Given the description of an element on the screen output the (x, y) to click on. 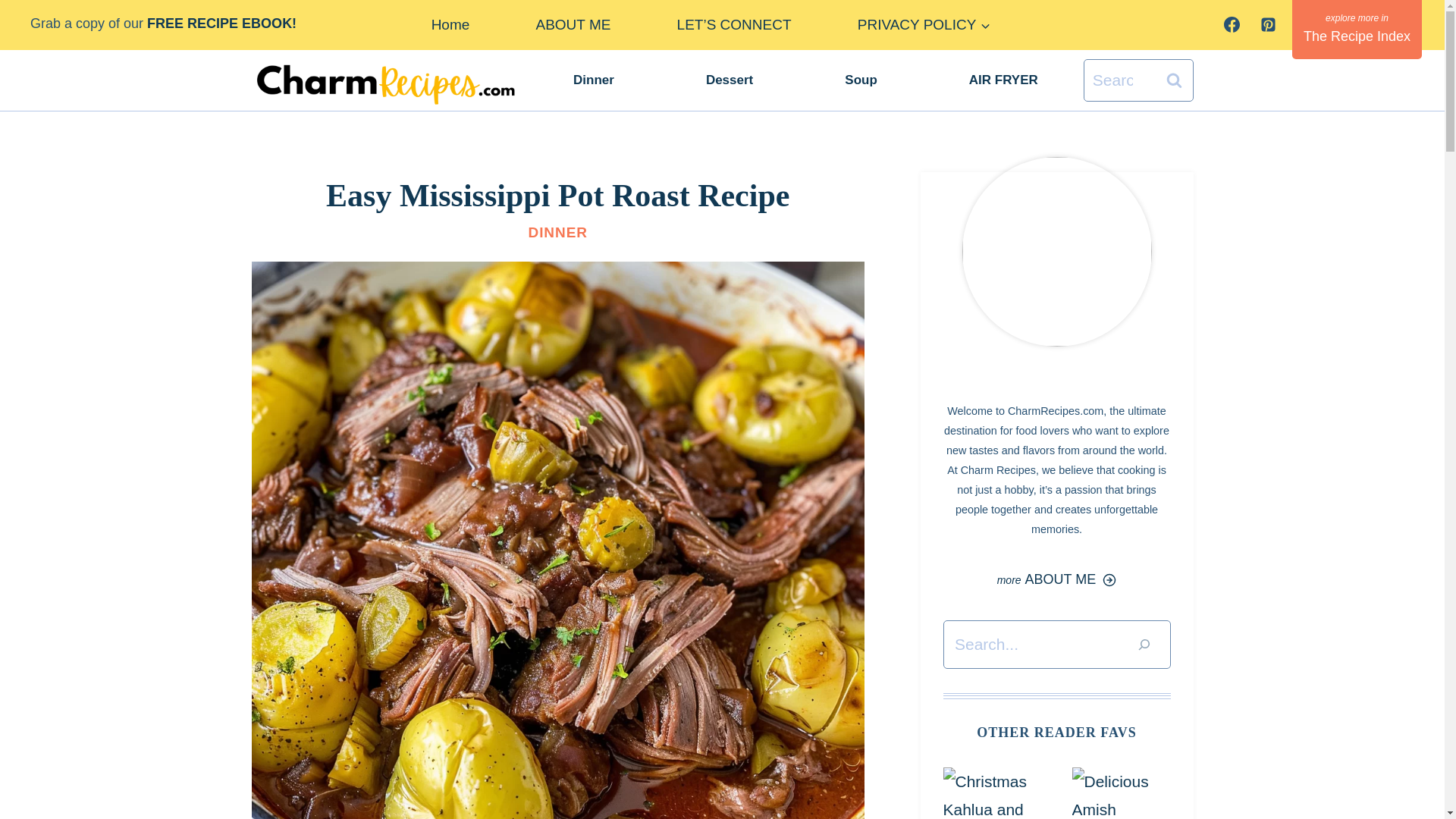
AIR FRYER (1003, 79)
Home (449, 24)
ABOUT ME (572, 24)
Dessert (728, 79)
PRIVACY POLICY (923, 24)
The Recipe Index (1357, 29)
Soup (861, 79)
DINNER (557, 232)
Dinner (594, 79)
FREE RECIPE EBOOK!   (225, 23)
